Given the description of an element on the screen output the (x, y) to click on. 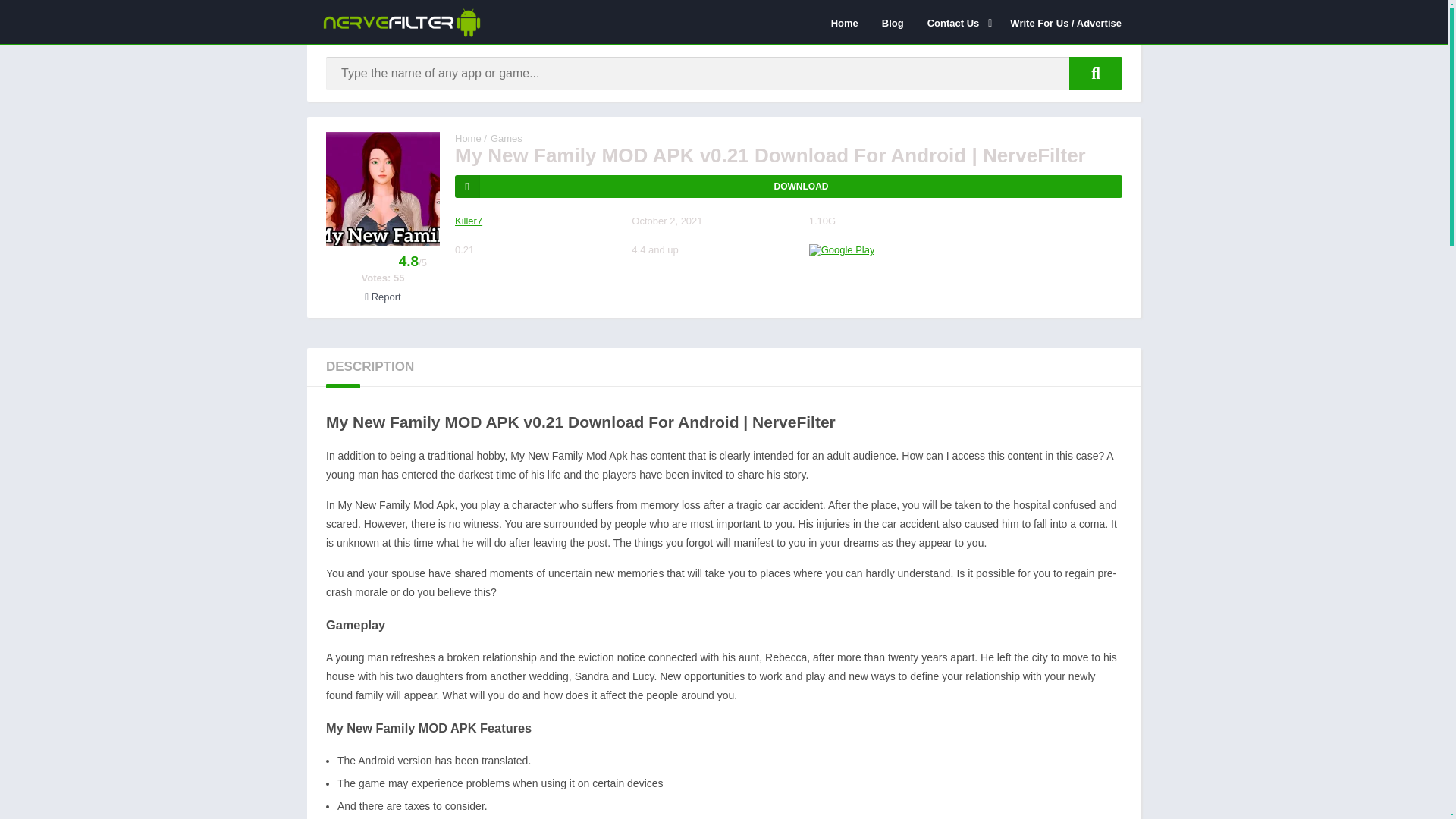
Games (506, 138)
Killer7 (467, 220)
DOWNLOAD (788, 186)
Download (788, 186)
Home (844, 22)
NerveFilter: Download APK Apps and Games MODs (467, 138)
Type the name of any app or game... (1095, 73)
Contact Us (956, 22)
Home (467, 138)
Blog (892, 22)
